Given the description of an element on the screen output the (x, y) to click on. 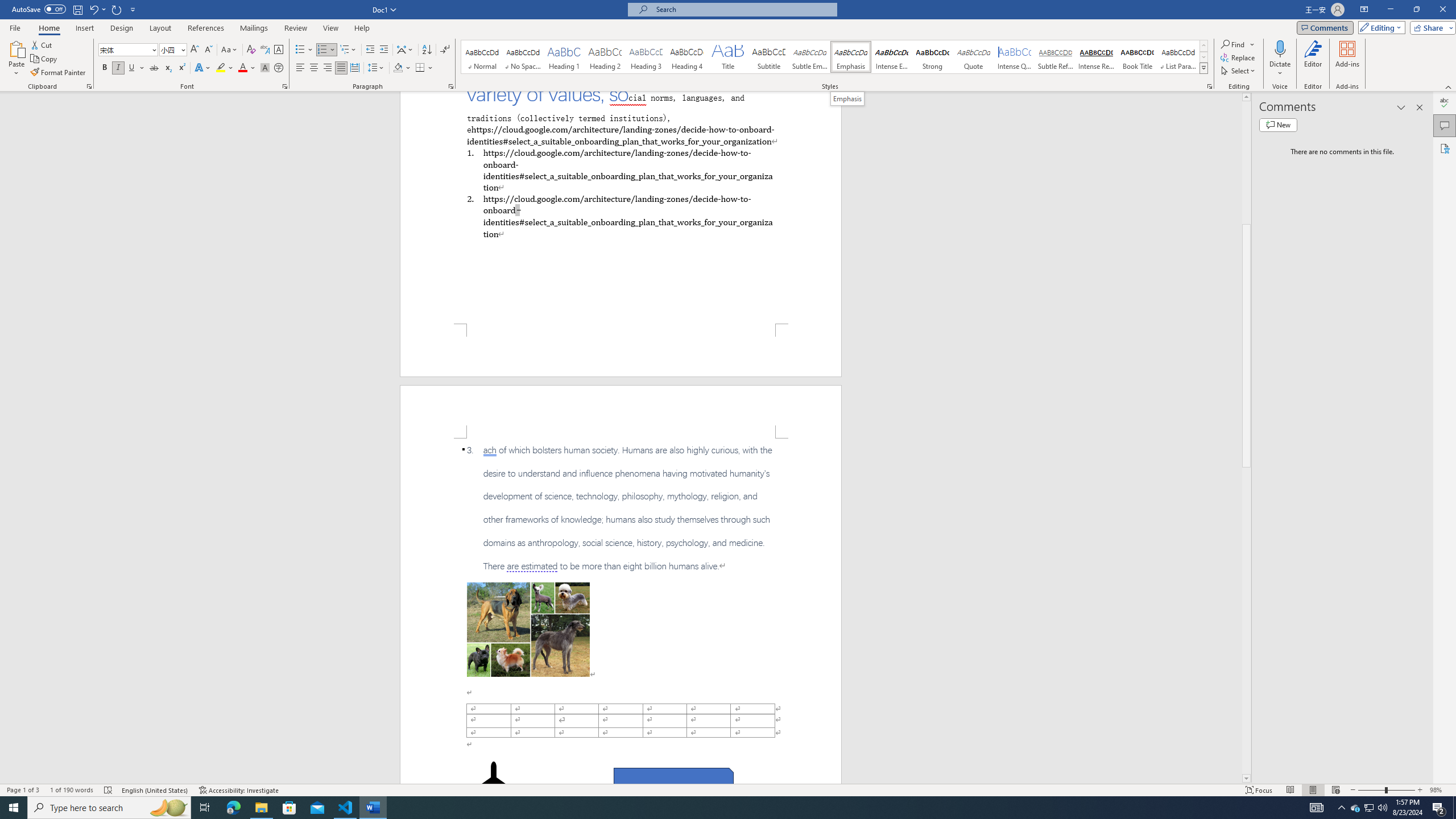
Repeat Style (117, 9)
Subtle Emphasis (809, 56)
Quote (973, 56)
Morphological variation in six dogs (528, 629)
Heading 2 (605, 56)
Heading 4 (686, 56)
